Given the description of an element on the screen output the (x, y) to click on. 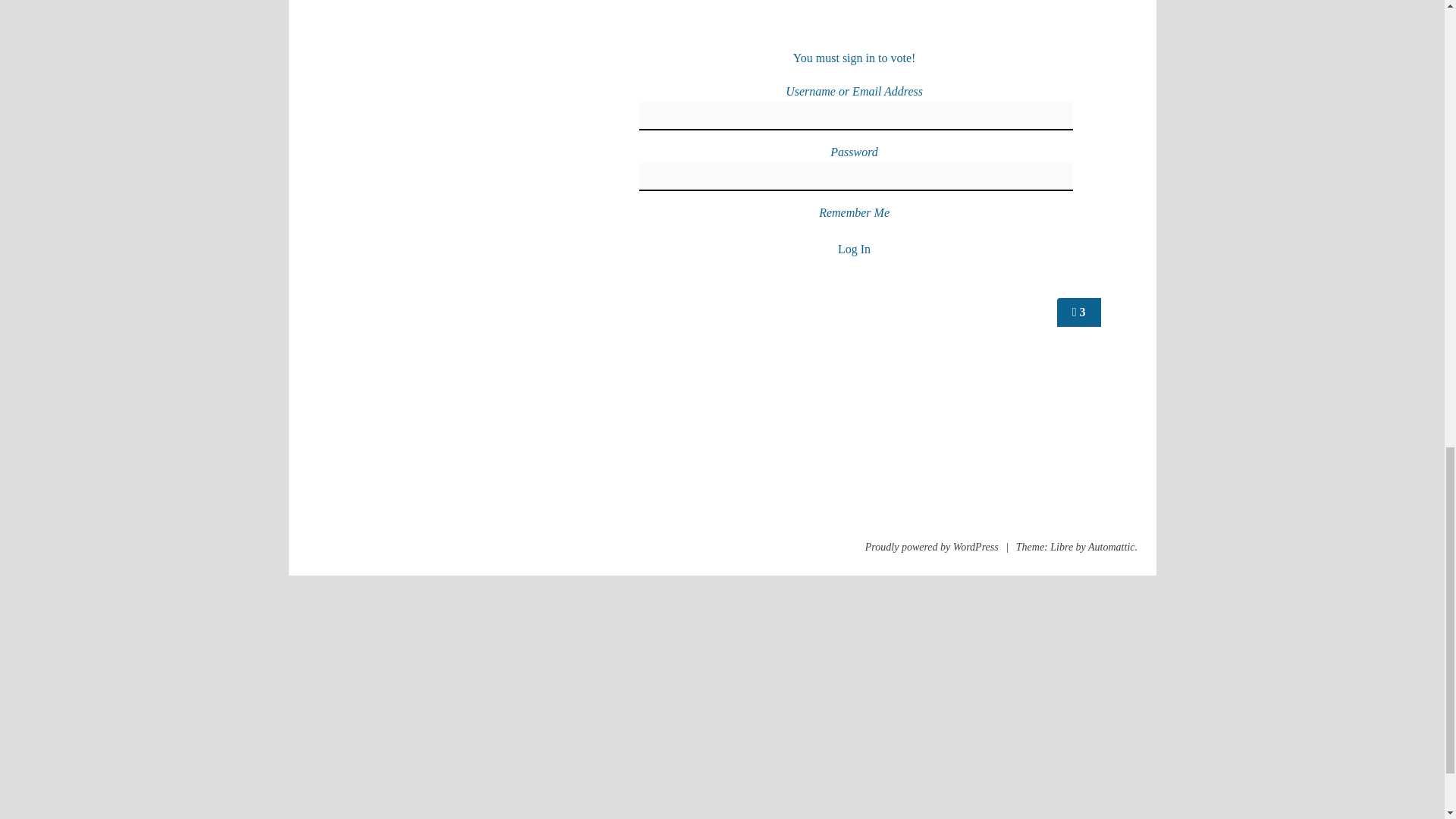
Log In (854, 248)
